Given the description of an element on the screen output the (x, y) to click on. 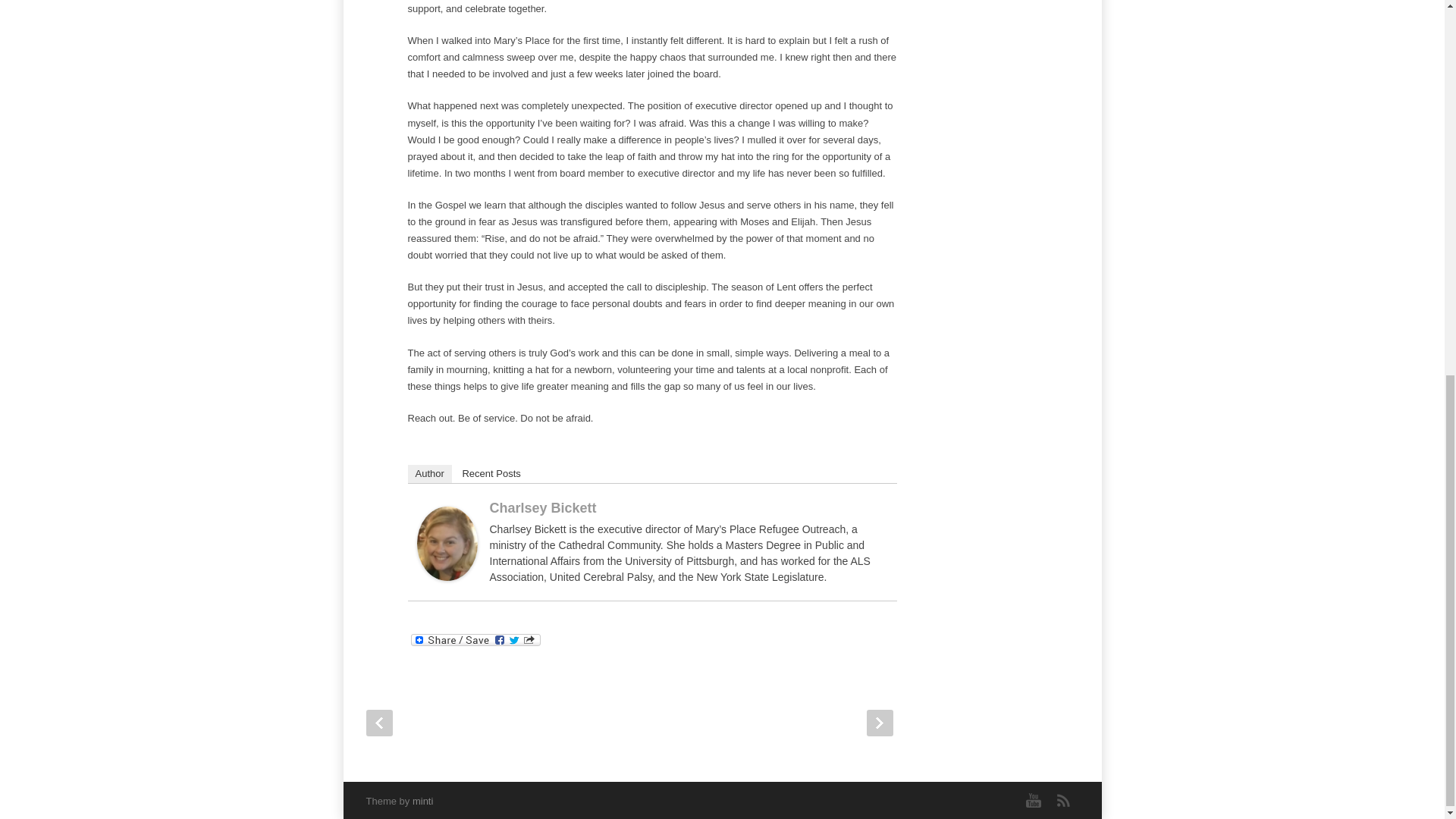
Charlsey Bickett (542, 507)
Prev Post (378, 723)
Recent Posts (490, 474)
YouTube (1032, 800)
RSS (1063, 800)
Author (429, 474)
minti (422, 800)
Next Post (879, 723)
